Given the description of an element on the screen output the (x, y) to click on. 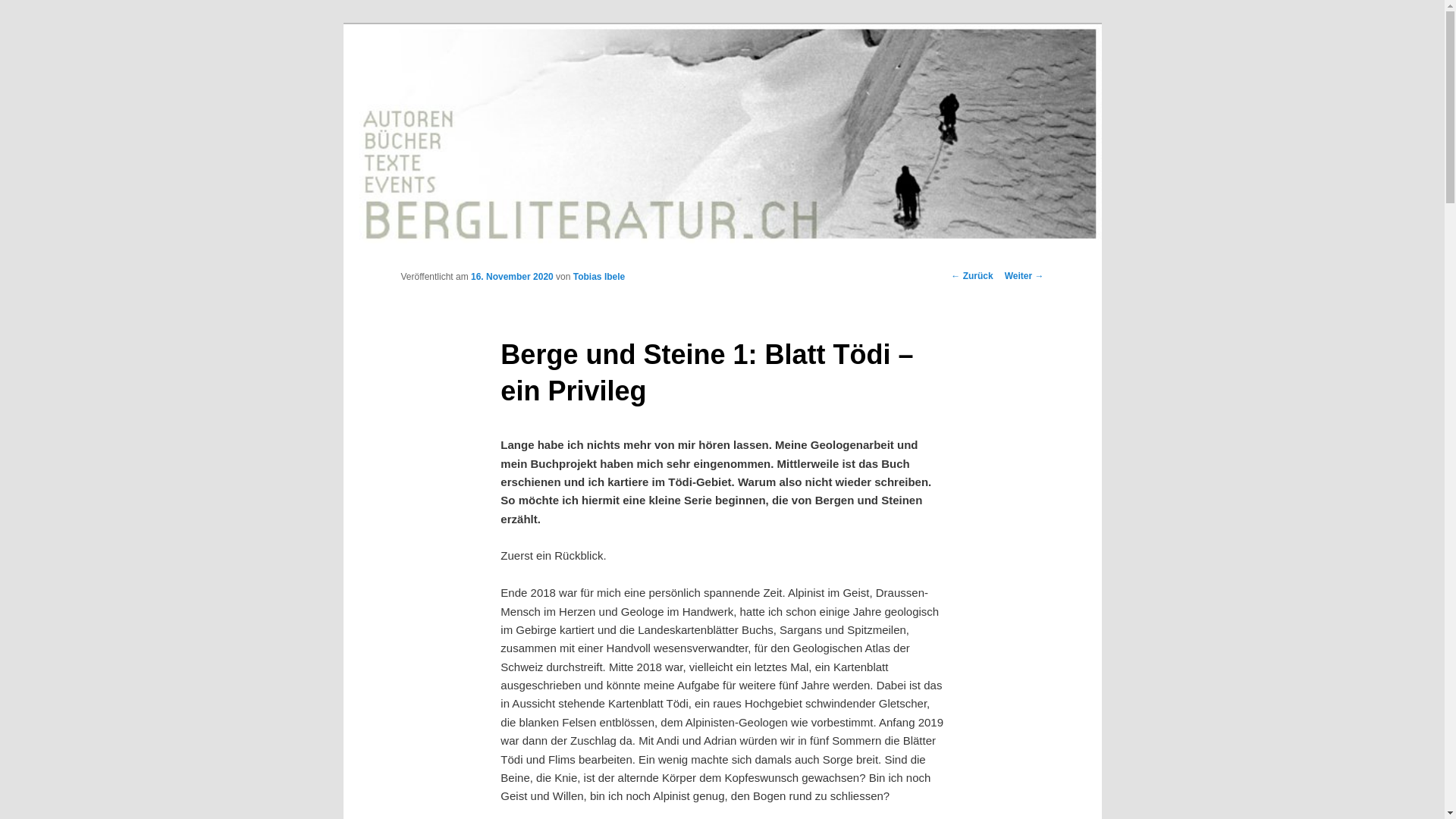
16. November 2020 Element type: text (511, 276)
Bergliteratur Element type: text (468, 78)
Zum Inhalt wechseln Element type: text (22, 22)
Tobias Ibele Element type: text (598, 276)
